Given the description of an element on the screen output the (x, y) to click on. 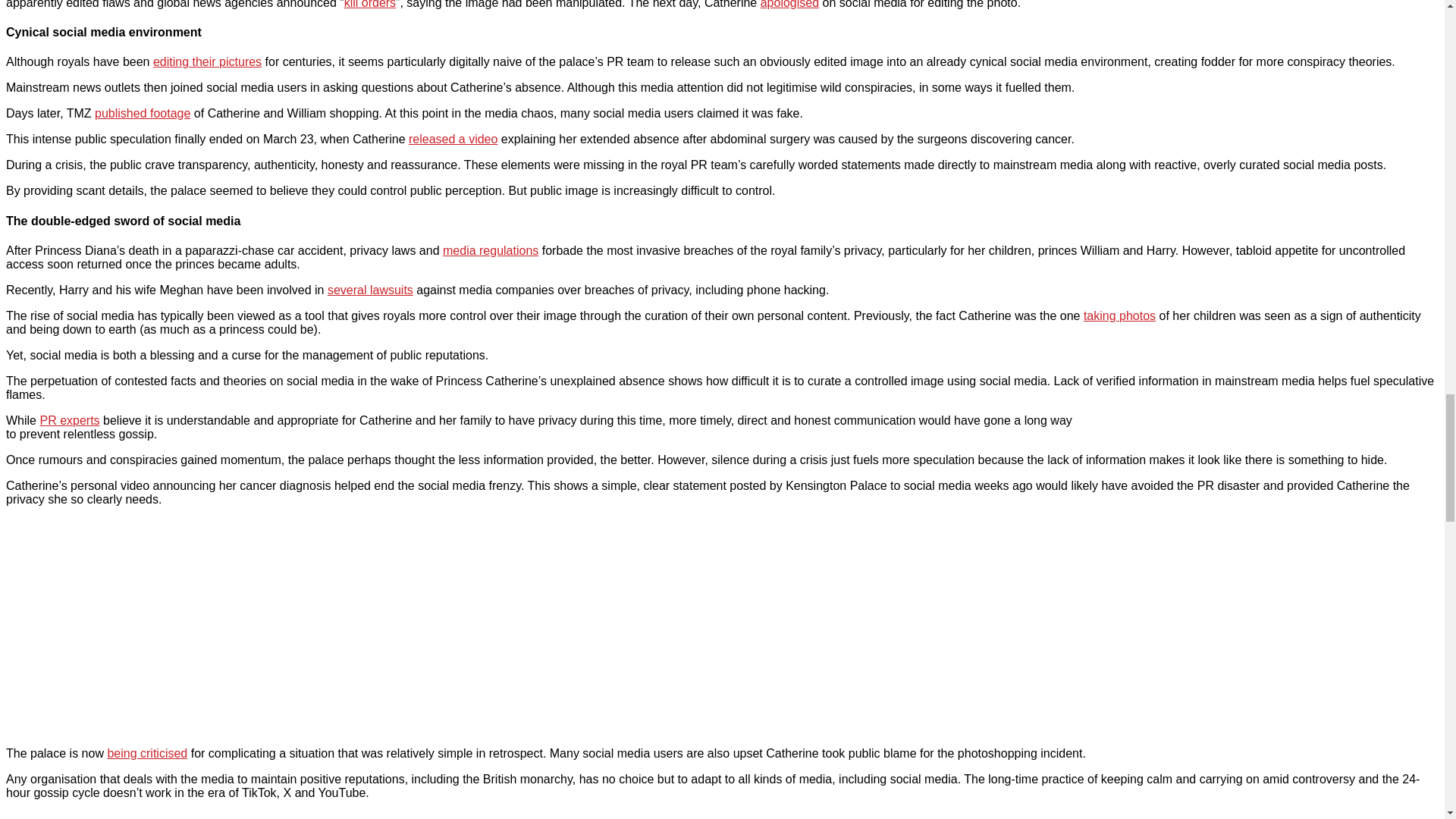
A message from Catherine, The Princess of Wales (195, 625)
